Given the description of an element on the screen output the (x, y) to click on. 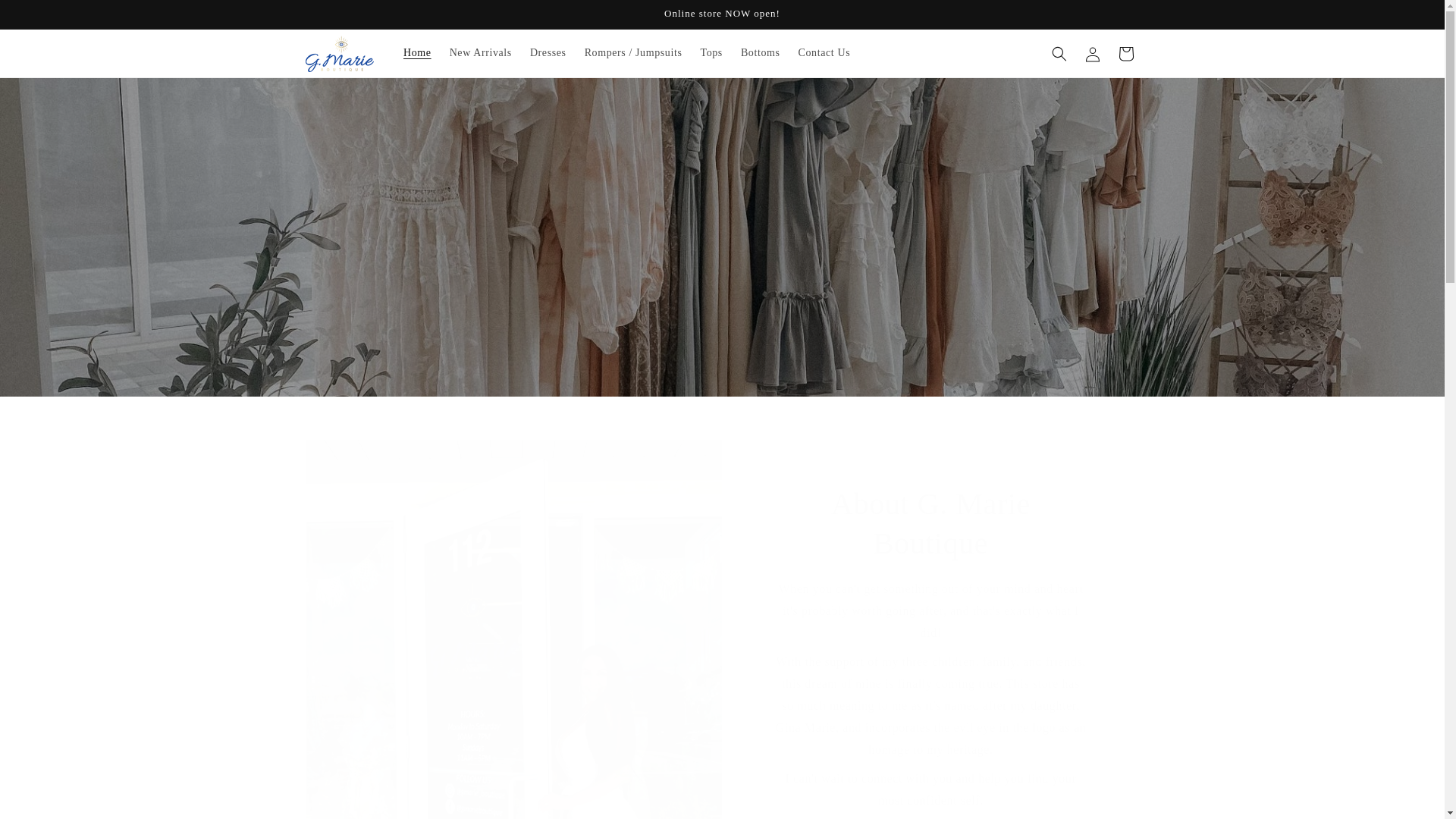
Dresses (548, 52)
New Arrivals (481, 52)
Cart (1124, 52)
Skip to content (45, 17)
Bottoms (760, 52)
Home (417, 52)
Log in (1091, 52)
Tops (710, 52)
Contact Us (824, 52)
